Given the description of an element on the screen output the (x, y) to click on. 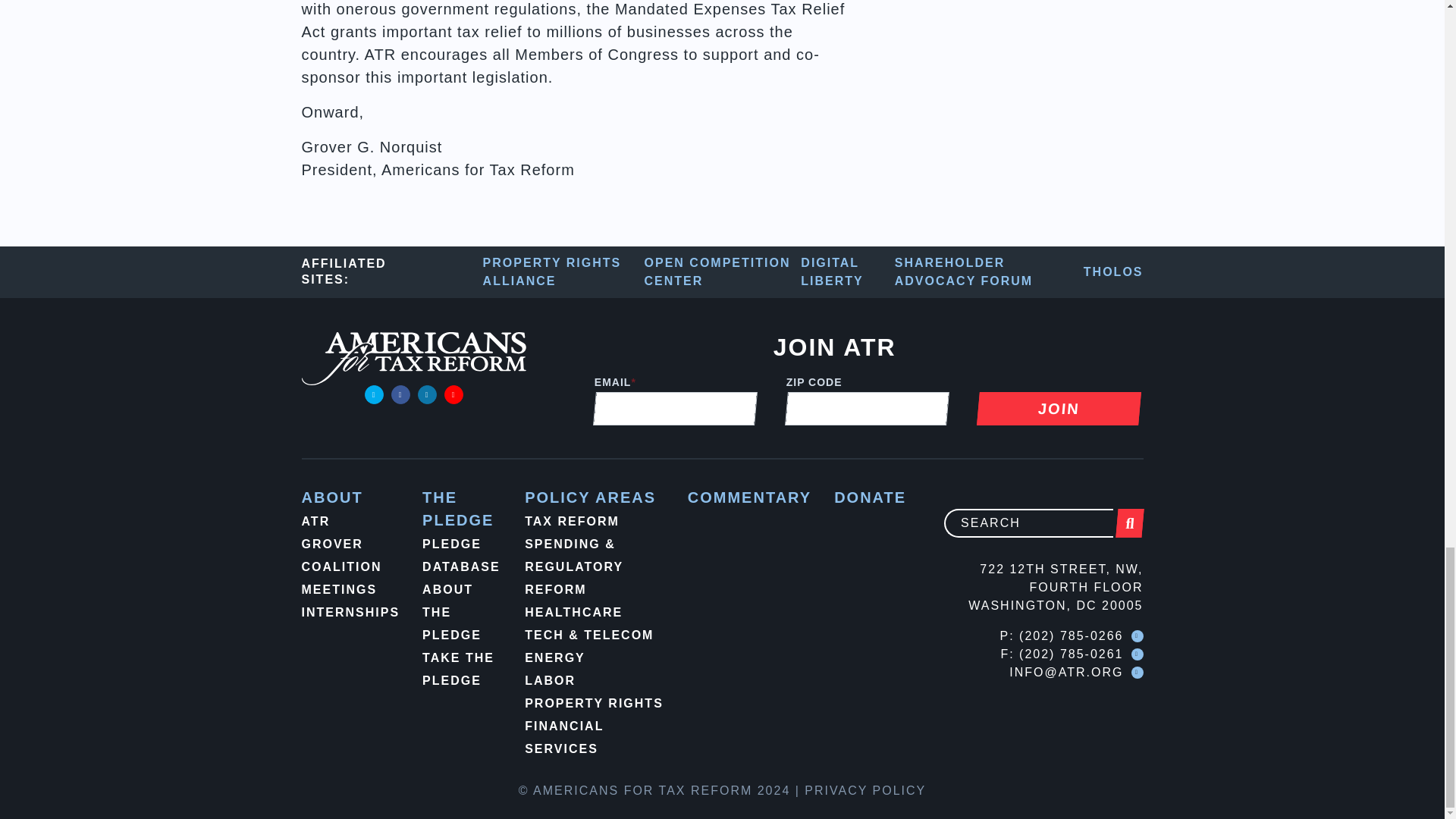
OPEN COMPETITION CENTER (723, 271)
Join (1057, 408)
PROPERTY RIGHTS ALLIANCE (564, 271)
